Given the description of an element on the screen output the (x, y) to click on. 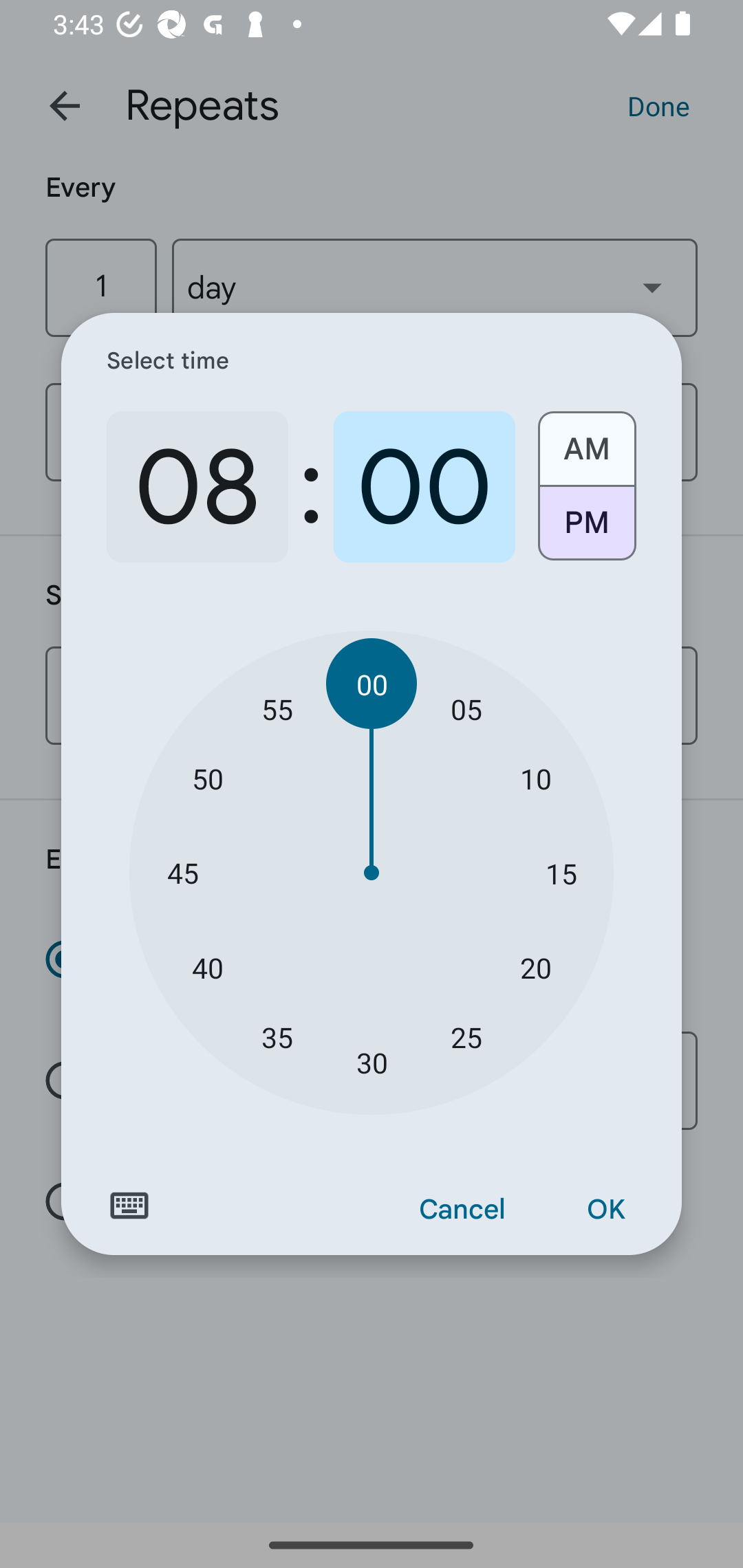
AM (586, 441)
08 8 o'clock (197, 486)
00 0 minutes (424, 486)
PM (586, 529)
00 00 minutes (371, 683)
55 55 minutes (276, 708)
05 05 minutes (466, 708)
50 50 minutes (207, 778)
10 10 minutes (535, 778)
45 45 minutes (182, 872)
15 15 minutes (561, 872)
40 40 minutes (207, 966)
20 20 minutes (535, 966)
35 35 minutes (276, 1035)
25 25 minutes (466, 1035)
30 30 minutes (371, 1062)
Switch to text input mode for the time input. (128, 1205)
Cancel (462, 1209)
OK (605, 1209)
